Given the description of an element on the screen output the (x, y) to click on. 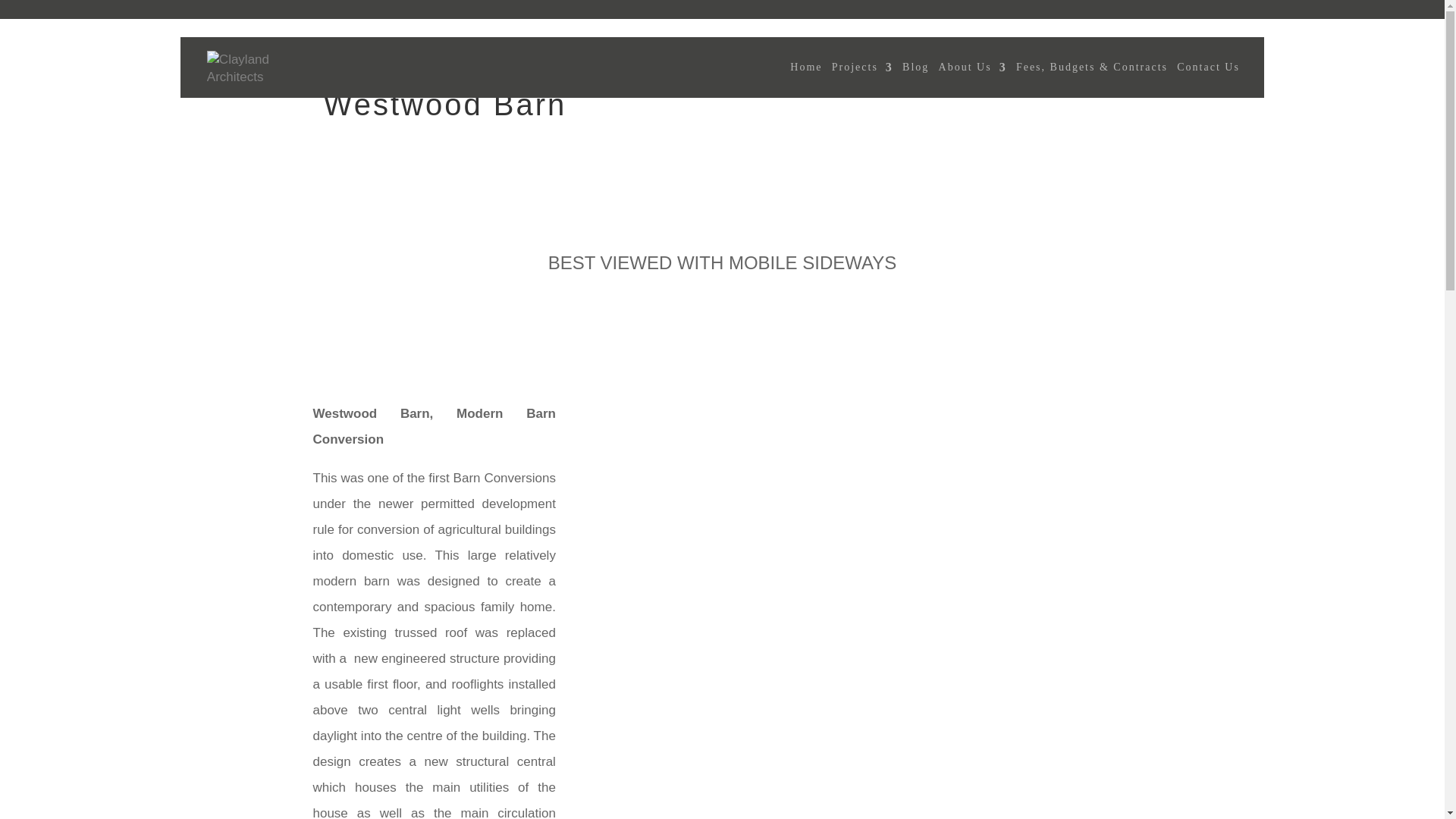
About Us (973, 79)
Projects (862, 79)
Home (806, 79)
Contact Us (1208, 79)
